Given the description of an element on the screen output the (x, y) to click on. 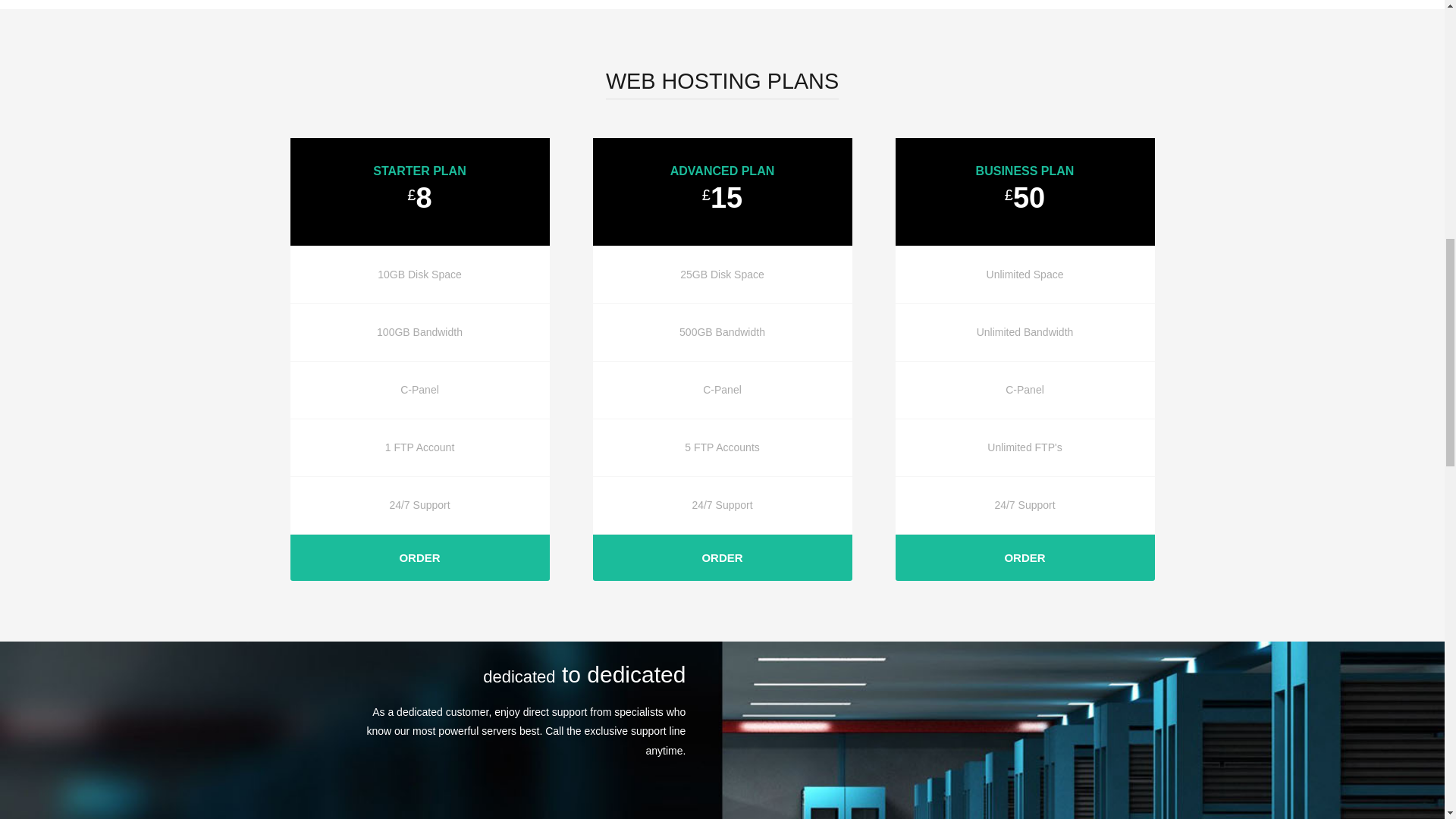
ORDER (418, 556)
ORDER (1024, 556)
ORDER (721, 556)
